Given the description of an element on the screen output the (x, y) to click on. 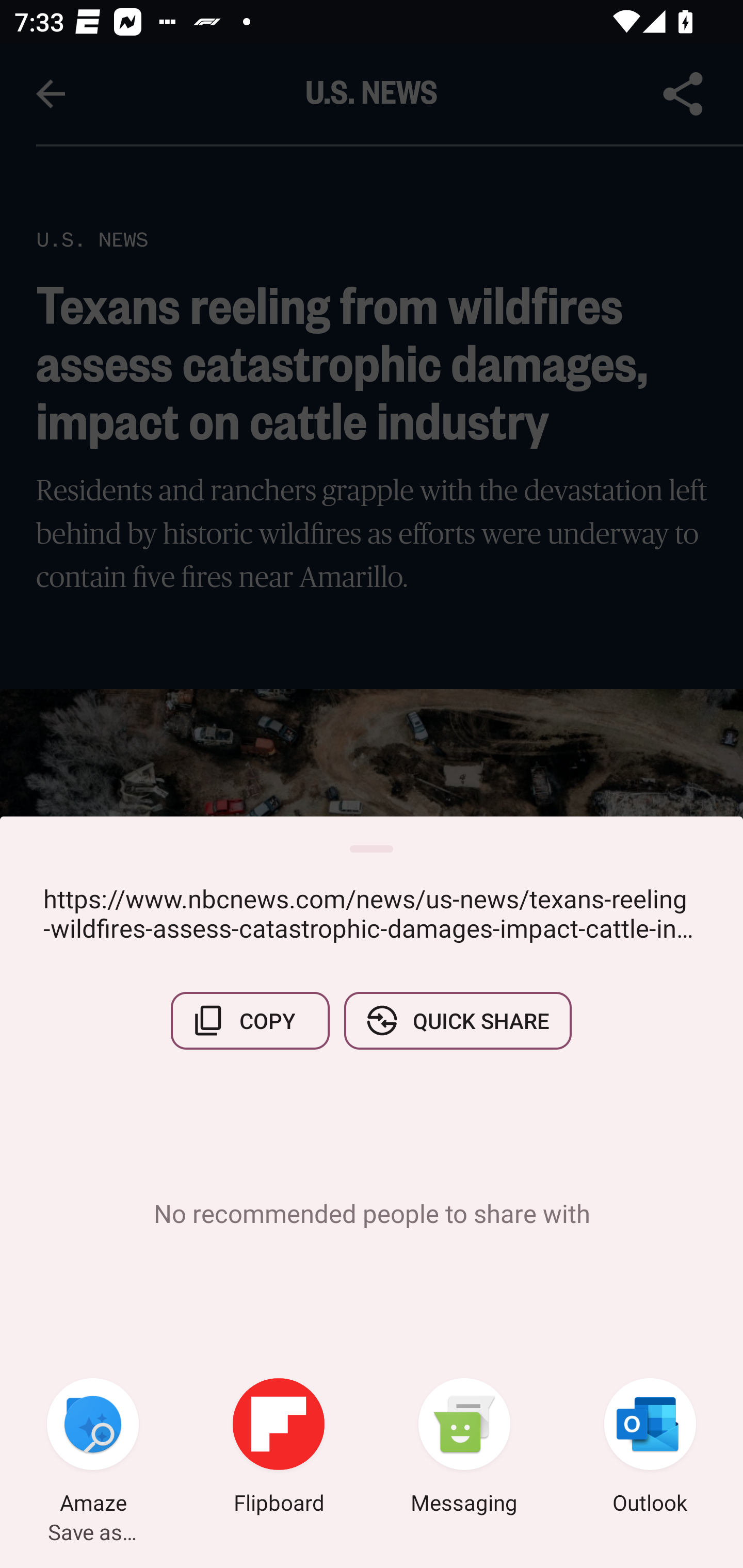
COPY (249, 1020)
QUICK SHARE (457, 1020)
Amaze Save as… (92, 1448)
Flipboard (278, 1448)
Messaging (464, 1448)
Outlook (650, 1448)
